Given the description of an element on the screen output the (x, y) to click on. 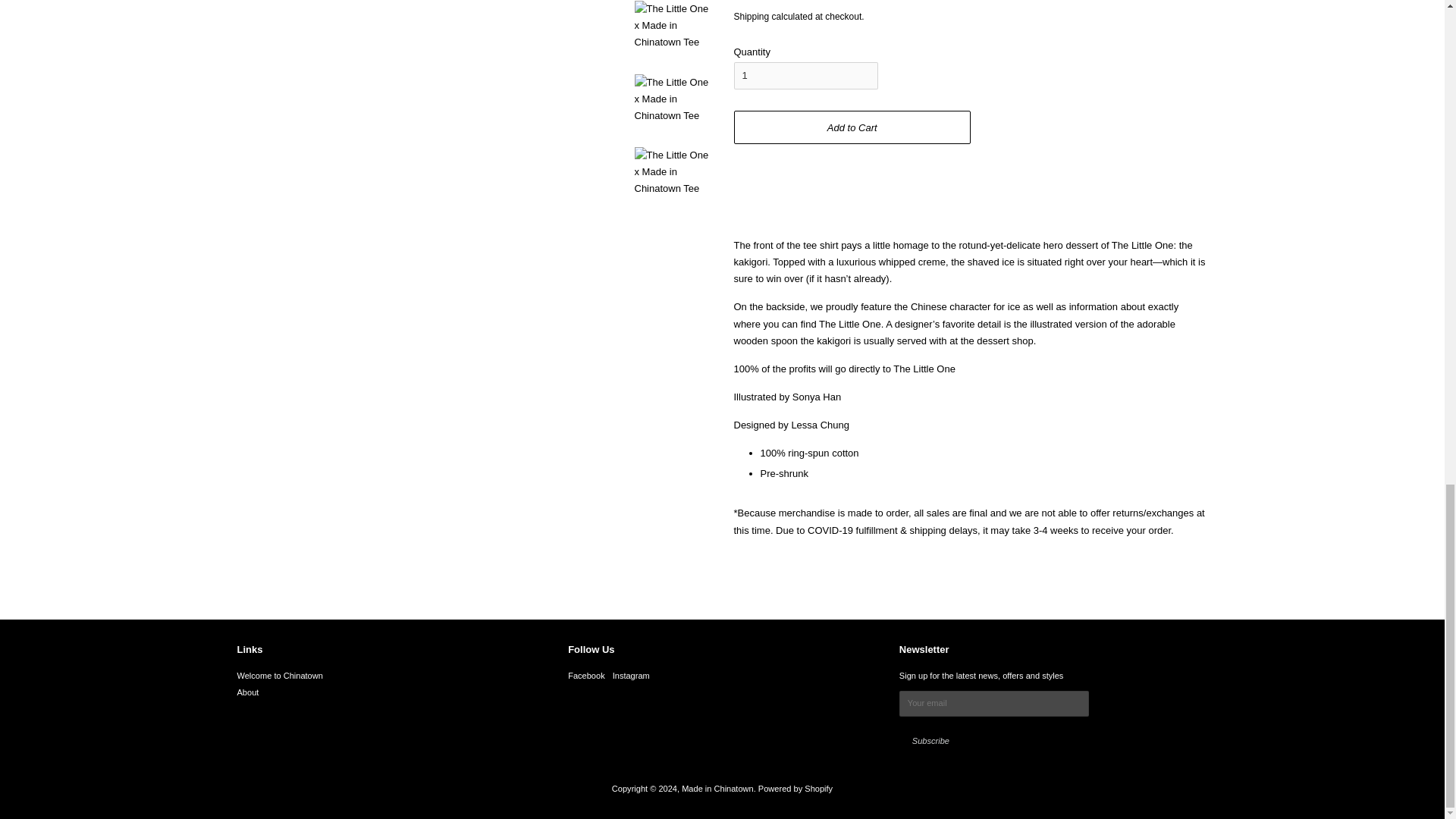
Made in Chinatown on Instagram (630, 675)
Made in Chinatown on Facebook (586, 675)
1 (805, 75)
Subscribe (930, 741)
